Given the description of an element on the screen output the (x, y) to click on. 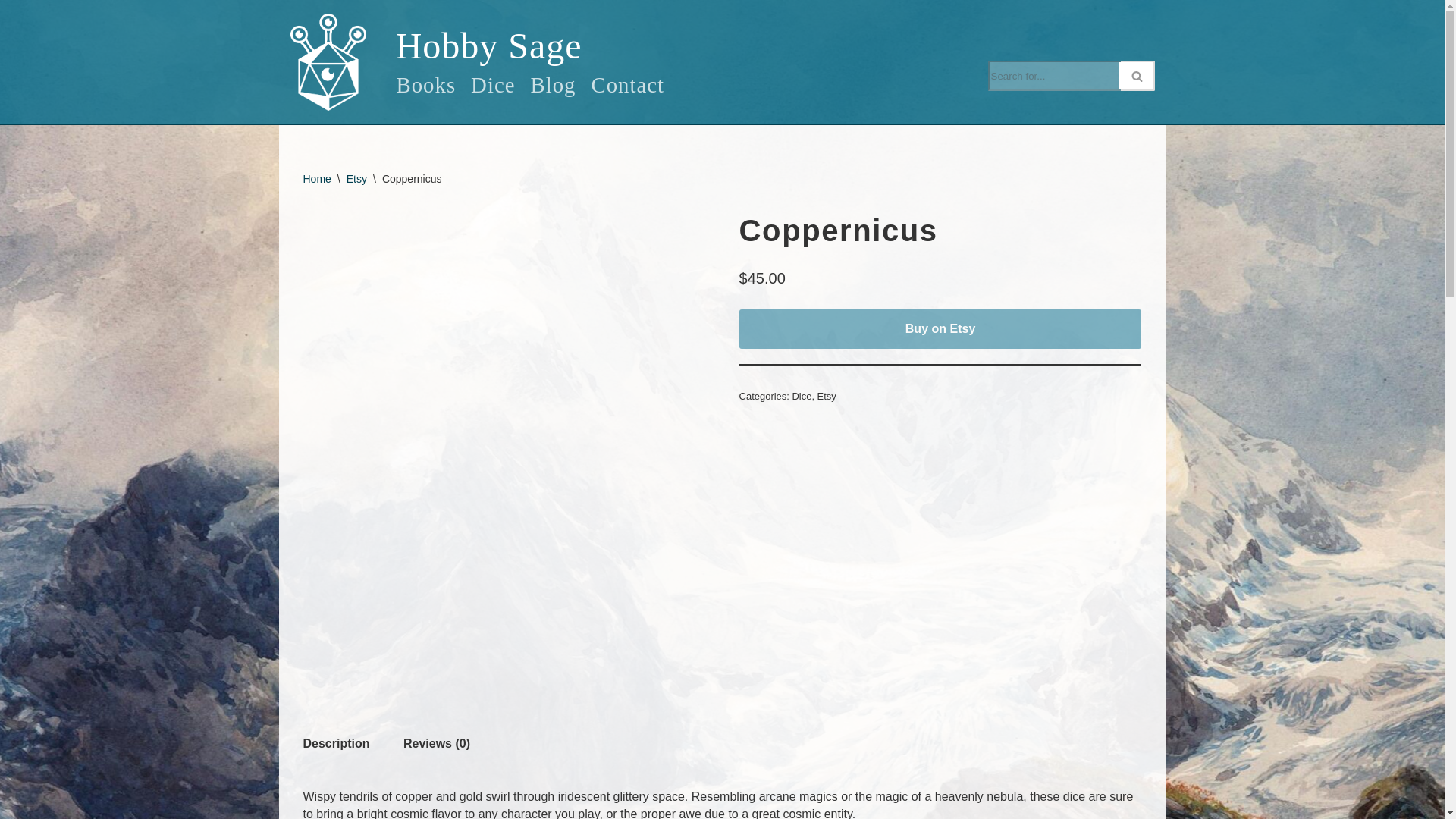
Etsy (356, 178)
Description (335, 743)
Home (316, 178)
Blog (552, 84)
Dice (801, 396)
Skip to content (11, 31)
Dice (492, 84)
Buy on Etsy (940, 328)
Books (425, 84)
Etsy (825, 396)
Contact (628, 84)
